Given the description of an element on the screen output the (x, y) to click on. 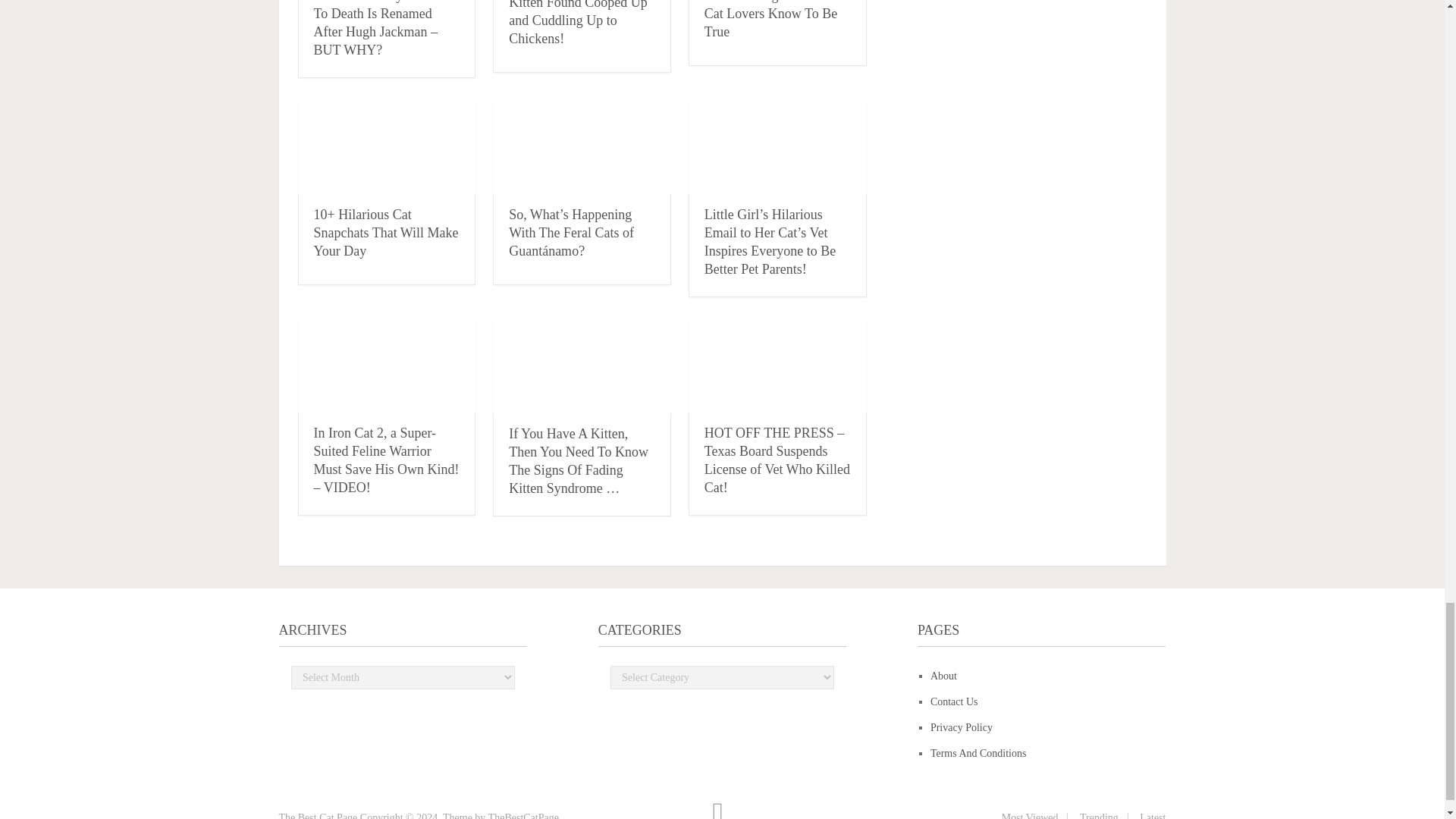
Kitten Found Cooped Up and Cuddling Up to Chickens! (577, 22)
The 18 Things All Real Cat Lovers Know To Be True (770, 19)
The 18 Things All Real Cat Lovers Know To Be True (770, 19)
Kitten Found Cooped Up and Cuddling Up to Chickens! (577, 22)
